Given the description of an element on the screen output the (x, y) to click on. 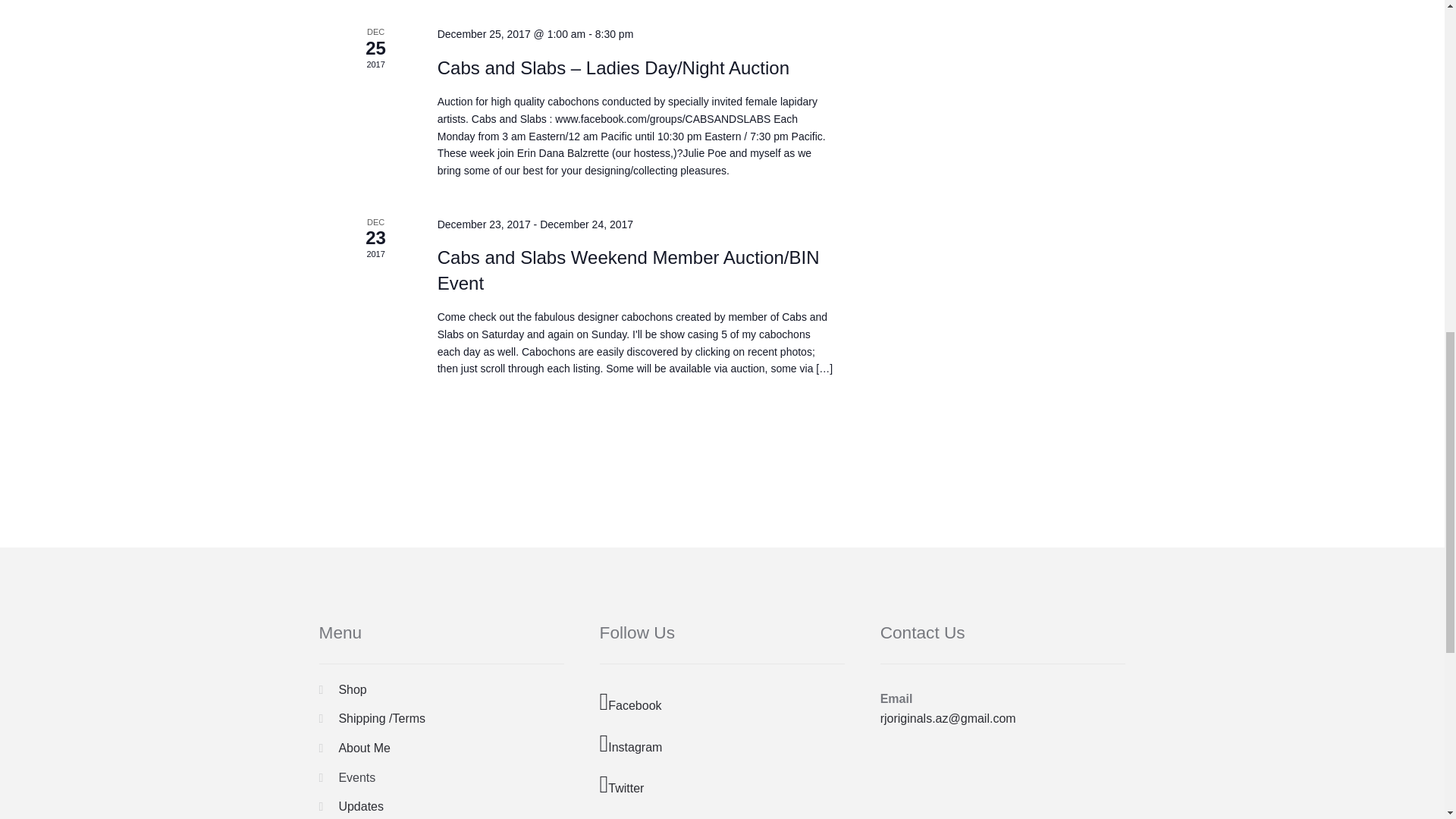
Visit R Joaz Gallery on Facebook (722, 702)
Visit R Joaz Gallery on Twitter (722, 785)
Shop (351, 689)
Visit R Joaz Gallery on Instagram (722, 744)
